Given the description of an element on the screen output the (x, y) to click on. 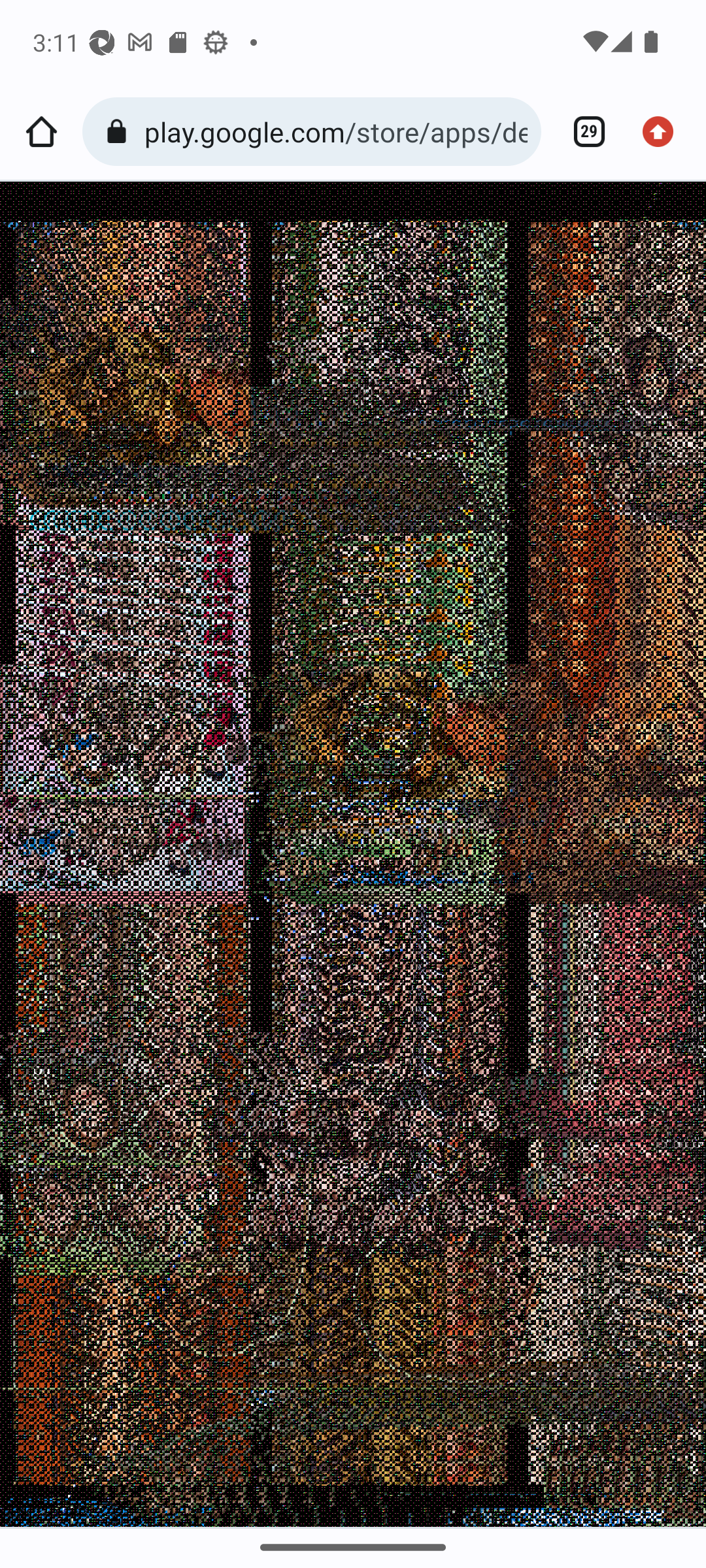
Home (41, 131)
Connection is secure (120, 131)
Switch or close tabs (582, 131)
Update available. More options (664, 131)
